Given the description of an element on the screen output the (x, y) to click on. 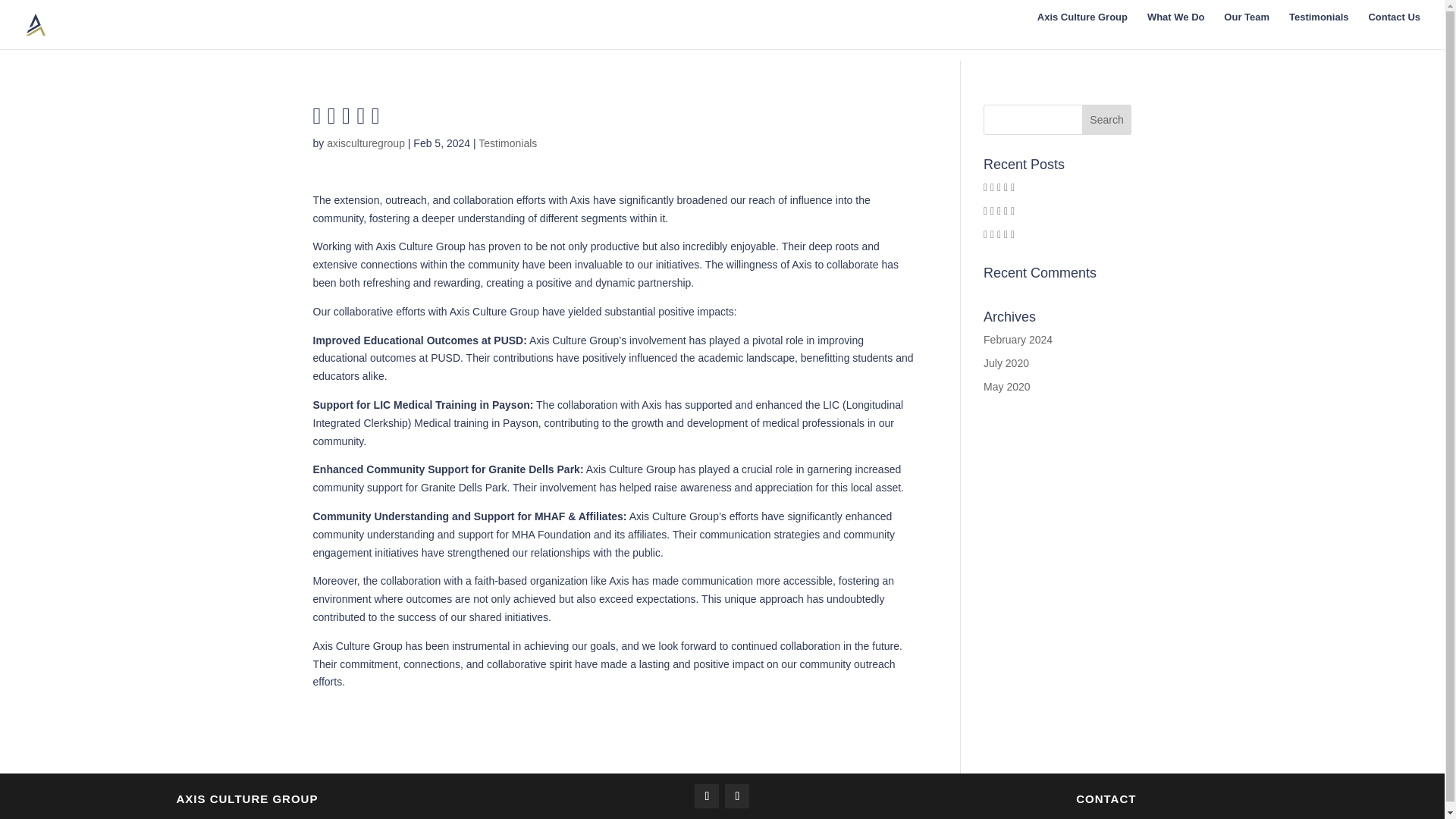
Testimonials (1318, 30)
axisculturegroup (365, 143)
Follow on LinkedIn (737, 795)
July 2020 (1006, 363)
Contact Us (1394, 30)
February 2024 (1018, 339)
May 2020 (1006, 386)
Search (1106, 119)
Testimonials (508, 143)
CONTACT (1105, 799)
